Given the description of an element on the screen output the (x, y) to click on. 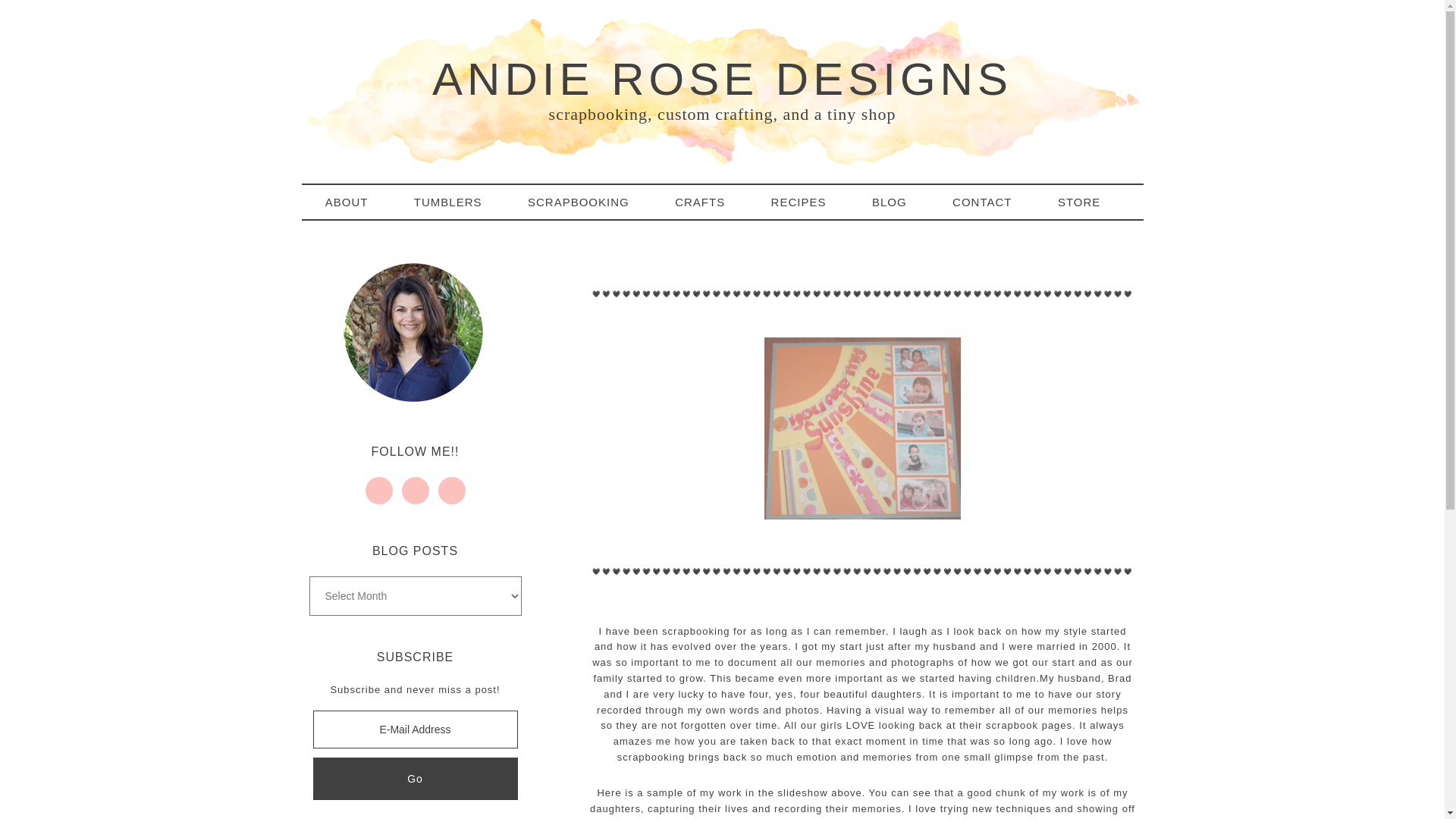
BLOG (898, 202)
Go (414, 778)
CONTACT (991, 202)
ABOUT (356, 202)
CRAFTS (709, 202)
TUMBLERS (457, 202)
Go (414, 778)
RECIPES (808, 202)
STORE (1088, 202)
SCRAPBOOKING (587, 202)
ANDIE ROSE DESIGNS (721, 79)
